Given the description of an element on the screen output the (x, y) to click on. 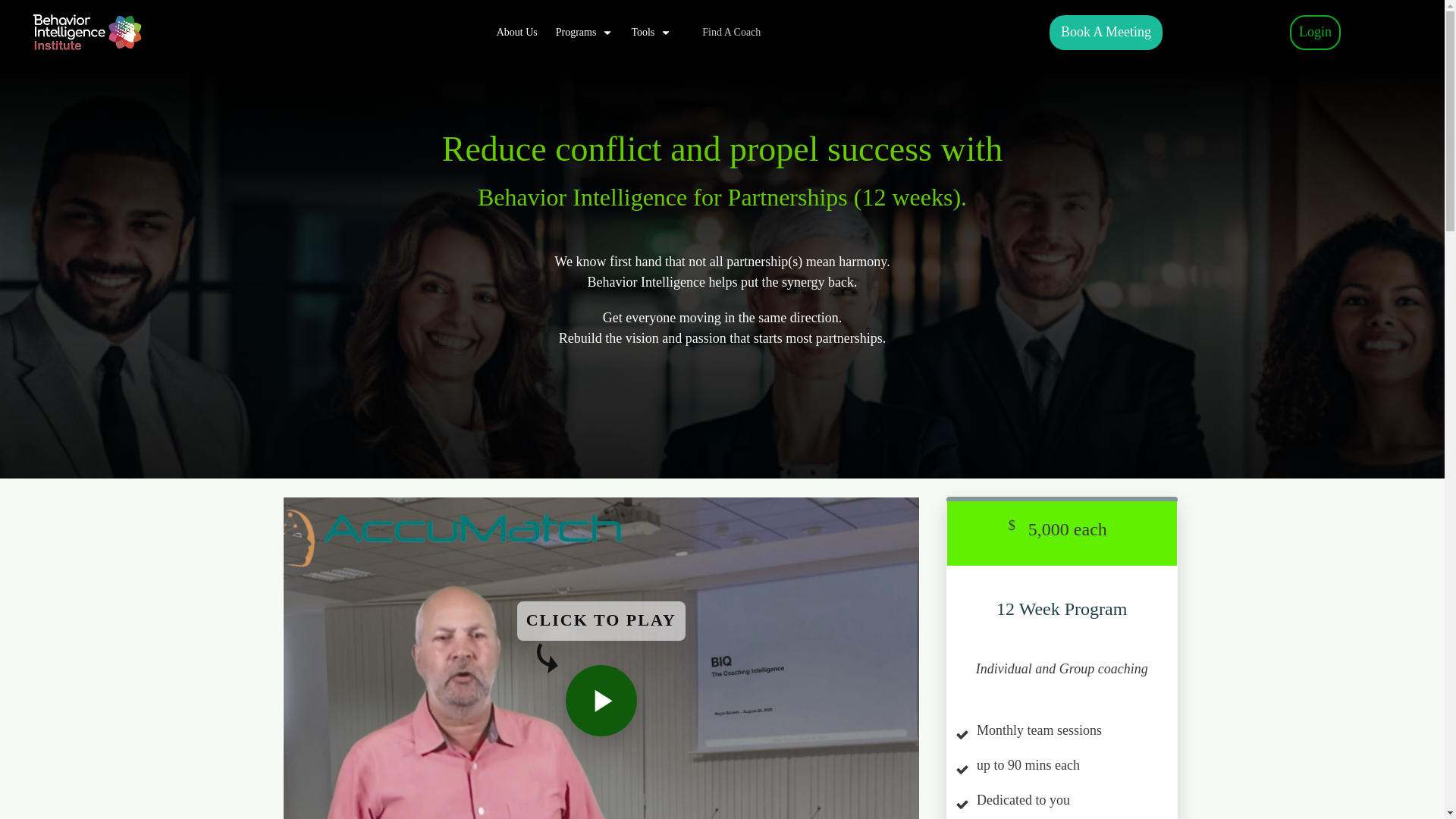
Find A Coach (730, 32)
Book A Meeting (1105, 32)
Tools (650, 32)
About Us (516, 32)
Programs (584, 32)
Login (1315, 32)
